Given the description of an element on the screen output the (x, y) to click on. 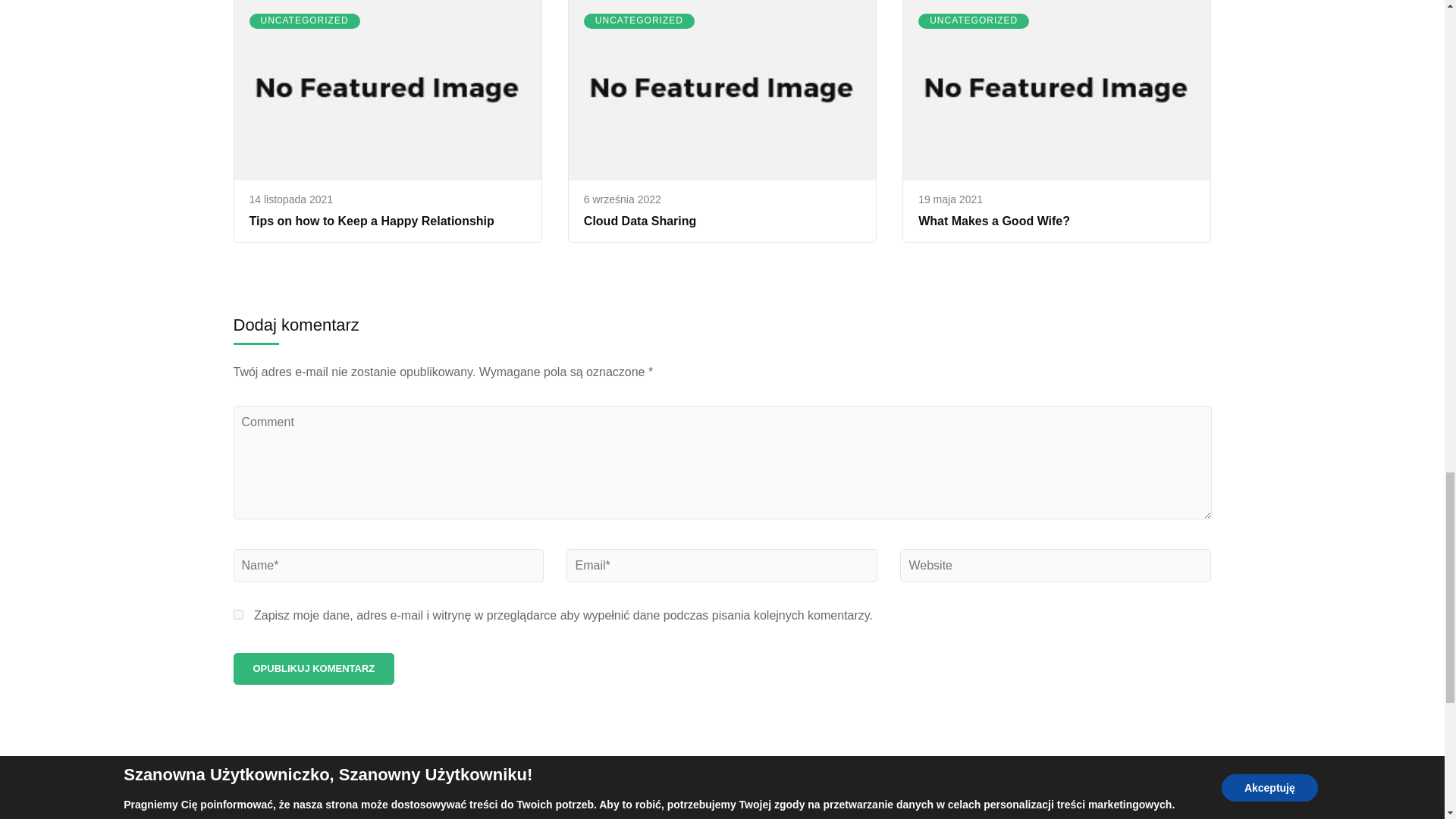
yes (237, 614)
UNCATEGORIZED (303, 20)
UNCATEGORIZED (638, 20)
14 listopada 2021 (290, 199)
Opublikuj komentarz (313, 668)
Tips on how to Keep a Happy Relationship (370, 220)
